Given the description of an element on the screen output the (x, y) to click on. 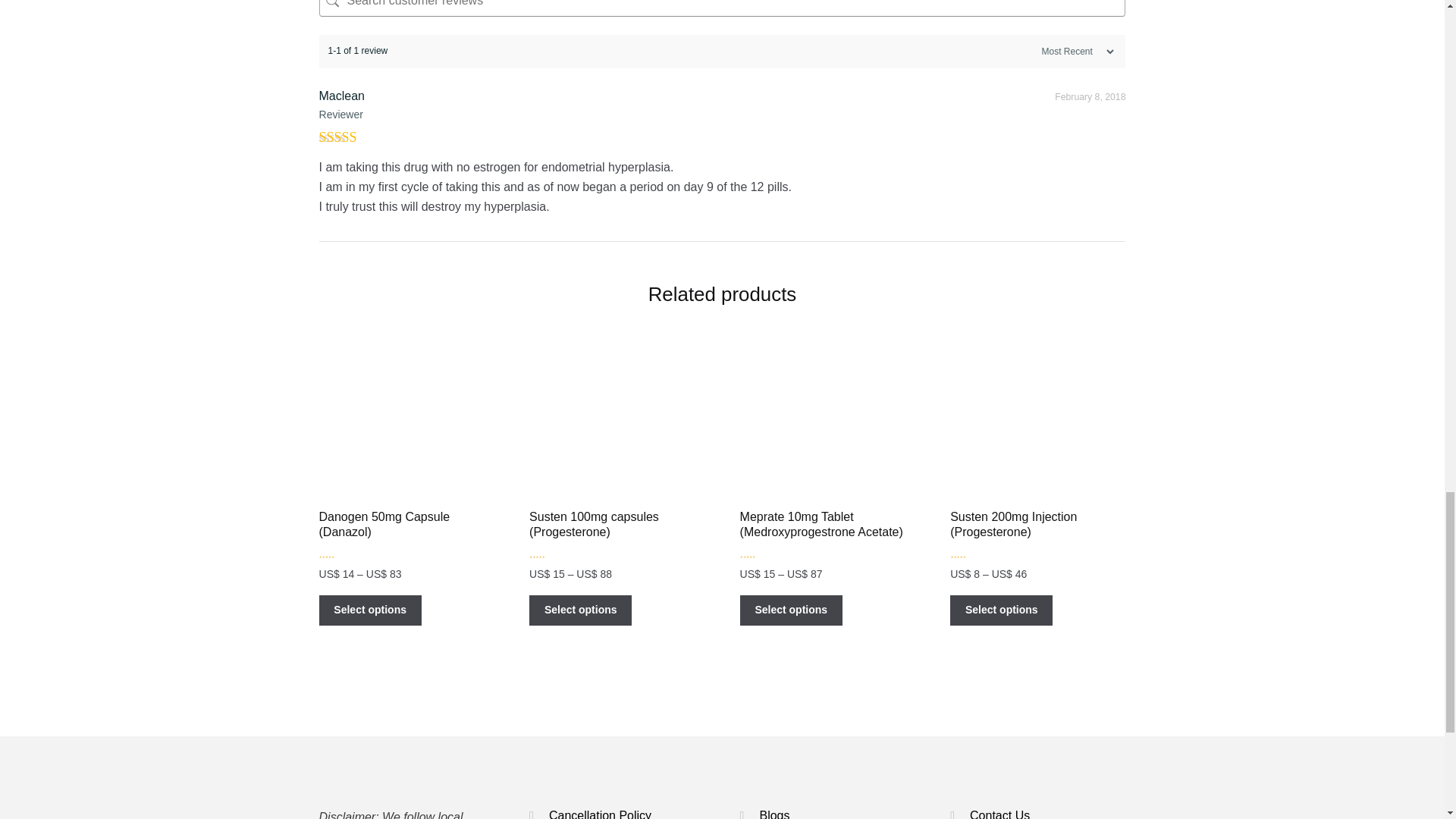
Select options (370, 610)
